Given the description of an element on the screen output the (x, y) to click on. 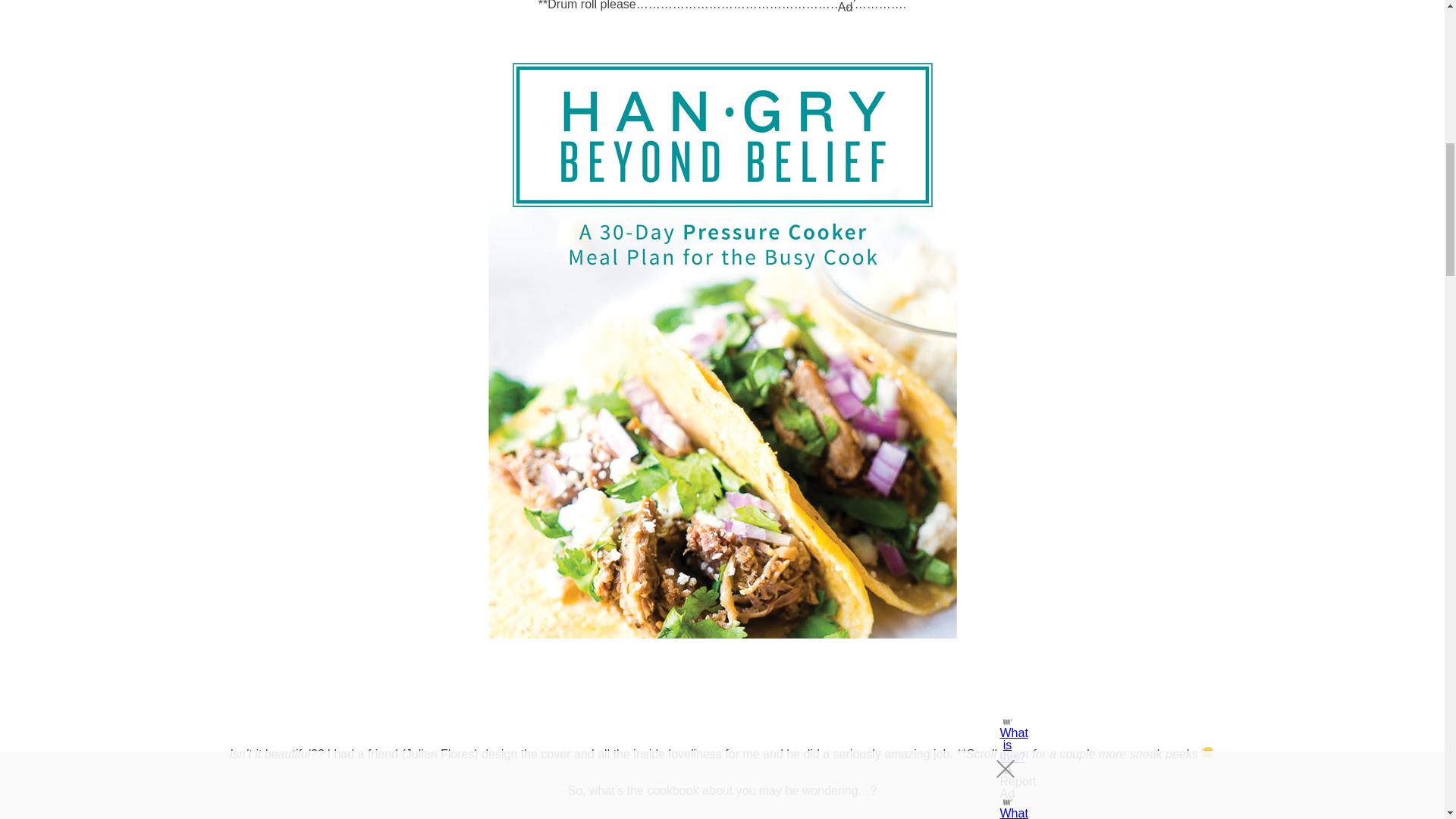
3rd party ad content (721, 695)
